Given the description of an element on the screen output the (x, y) to click on. 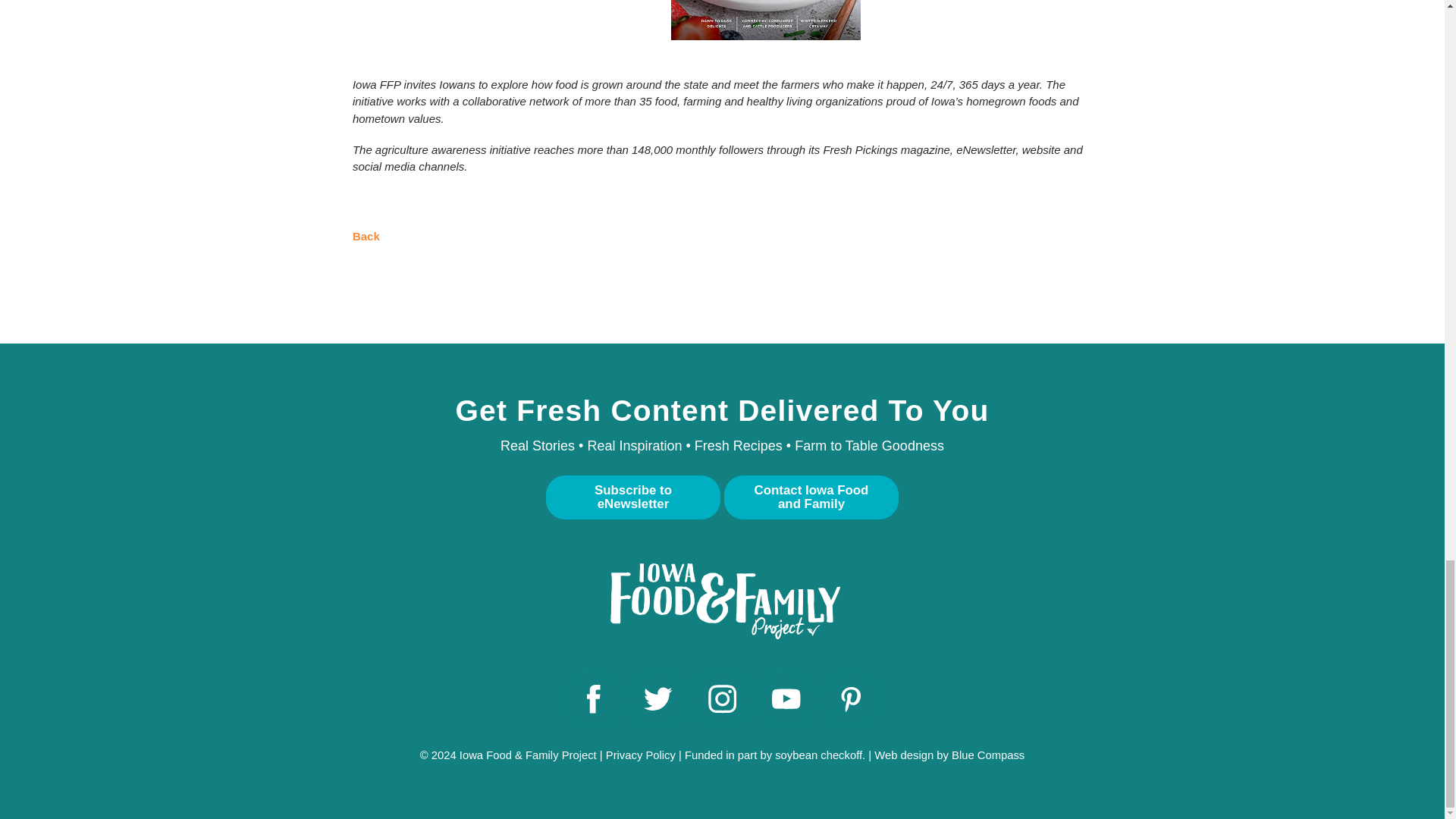
Privacy Policy (640, 755)
Blue Compass (988, 755)
Youtube (786, 699)
Subscribe to eNewsletter (633, 496)
Twitter (656, 699)
Instagram (722, 699)
Iowa Food and Family Logo (721, 601)
Contact Iowa Food and Family (810, 496)
Facebook (594, 699)
Pinterest (850, 699)
